Given the description of an element on the screen output the (x, y) to click on. 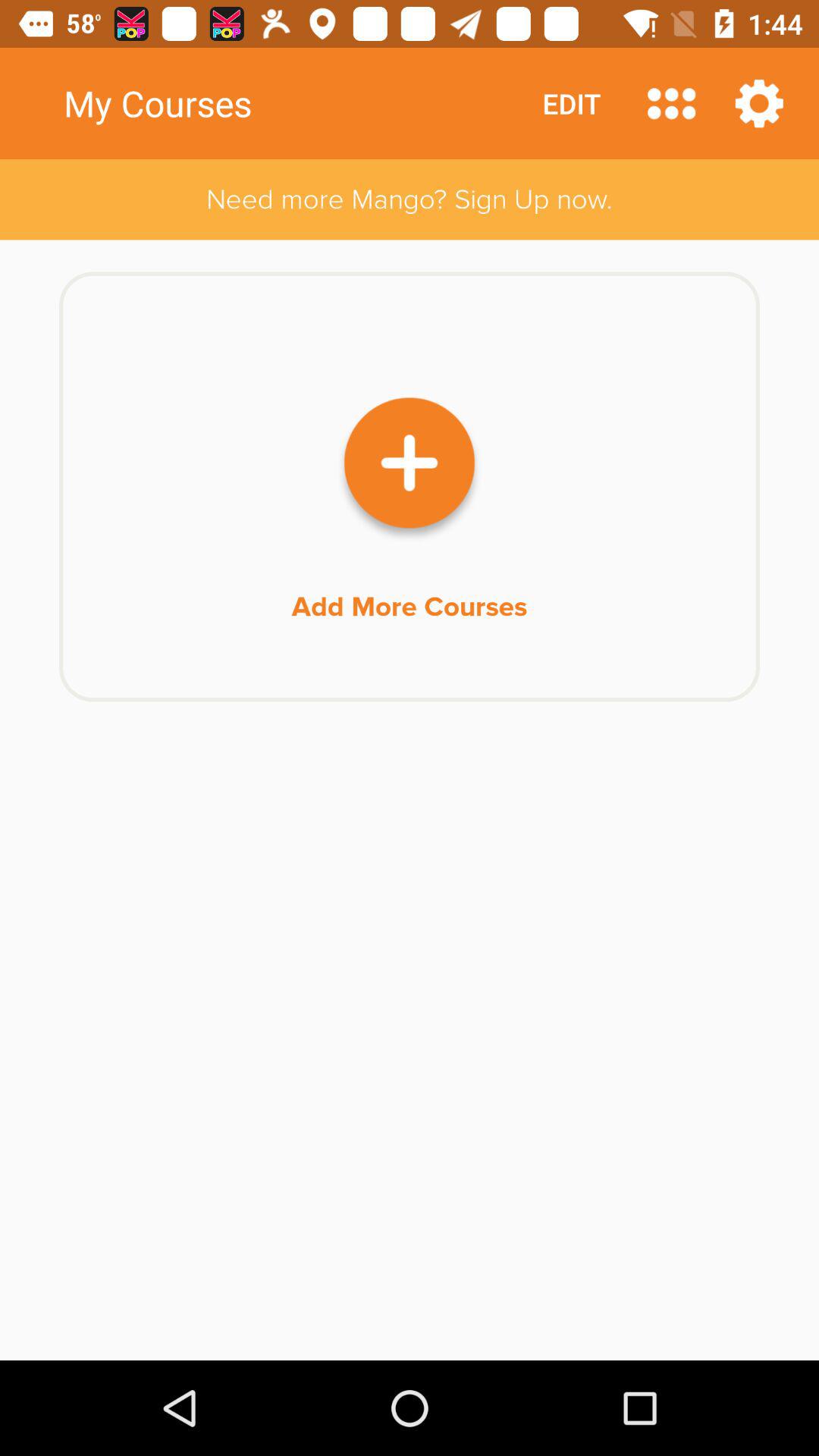
open the item to the right of the my courses icon (571, 103)
